Given the description of an element on the screen output the (x, y) to click on. 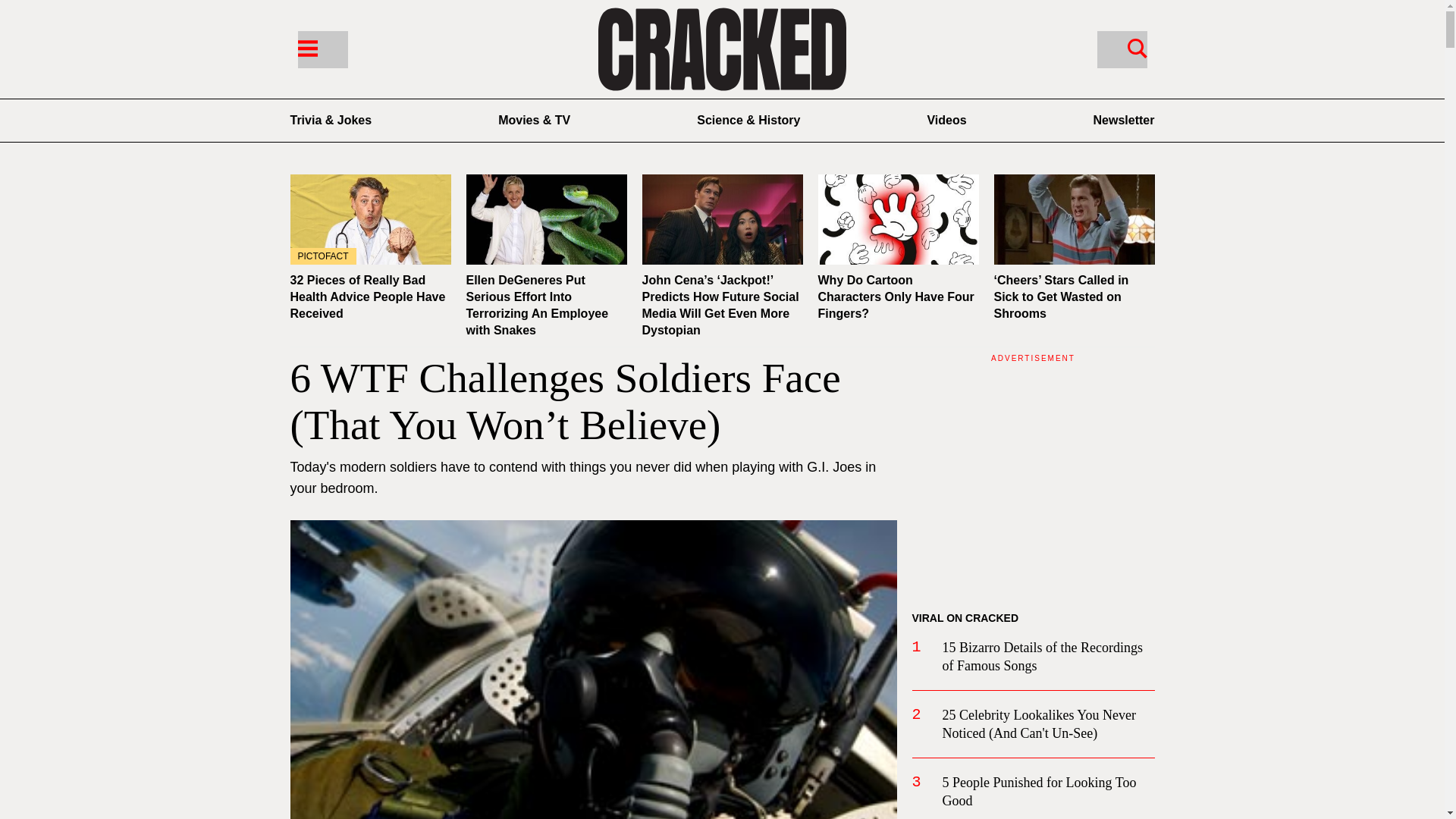
Newsletter (1123, 119)
Search (1121, 48)
Videos (946, 119)
32 Pieces of Really Bad Health Advice People Have Received (367, 296)
Why Do Cartoon Characters Only Have Four Fingers? (895, 296)
PICTOFACT (369, 219)
Videos (946, 119)
Menu (322, 48)
Cracked Newsletter (1123, 119)
